Given the description of an element on the screen output the (x, y) to click on. 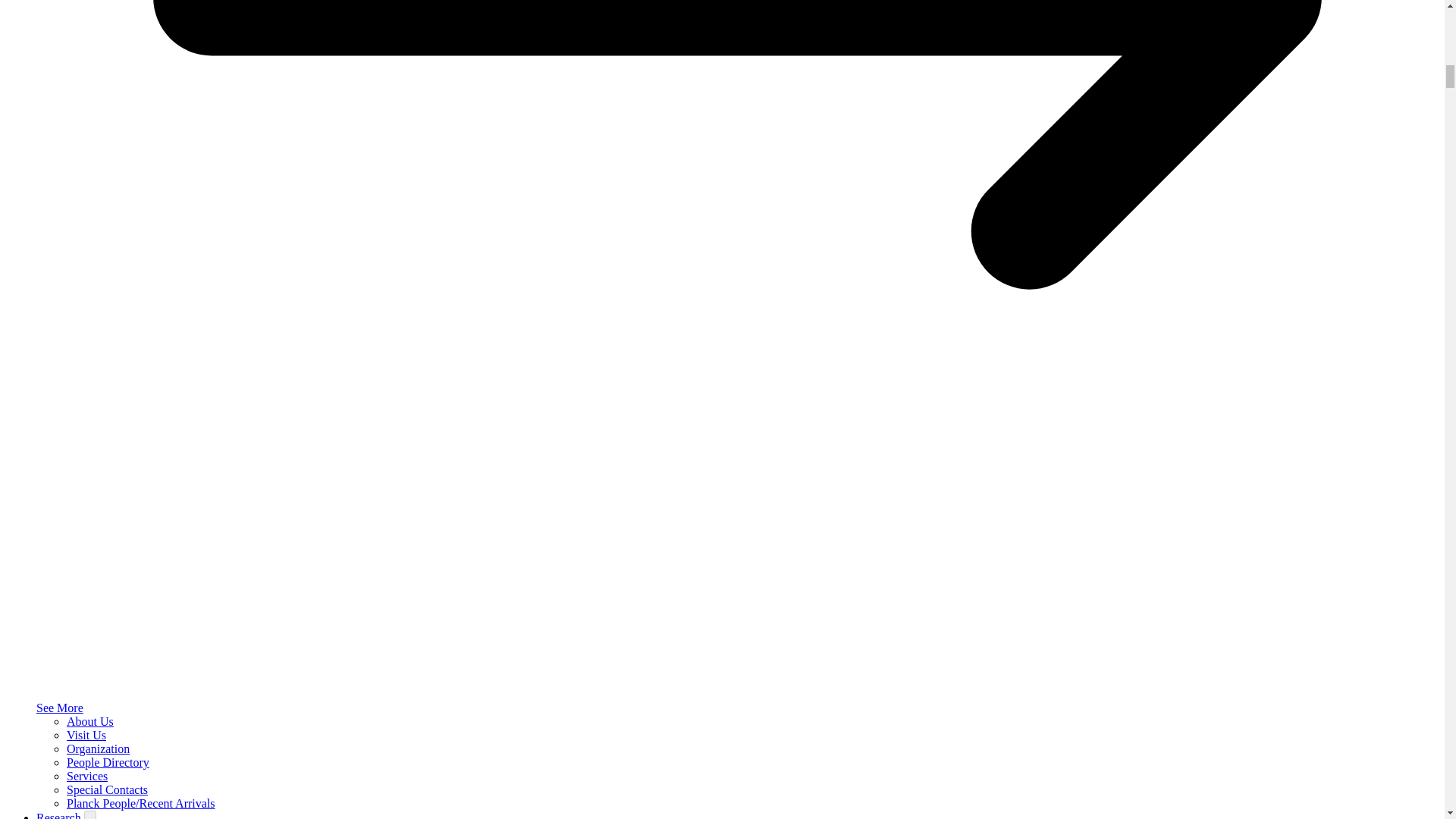
Organization (97, 748)
Special Contacts (107, 789)
Visit Us (86, 735)
Visit Us (86, 735)
People Directory (107, 762)
Organization (97, 748)
About Us (89, 721)
People Directory (107, 762)
Research (60, 815)
See More (59, 707)
